Given the description of an element on the screen output the (x, y) to click on. 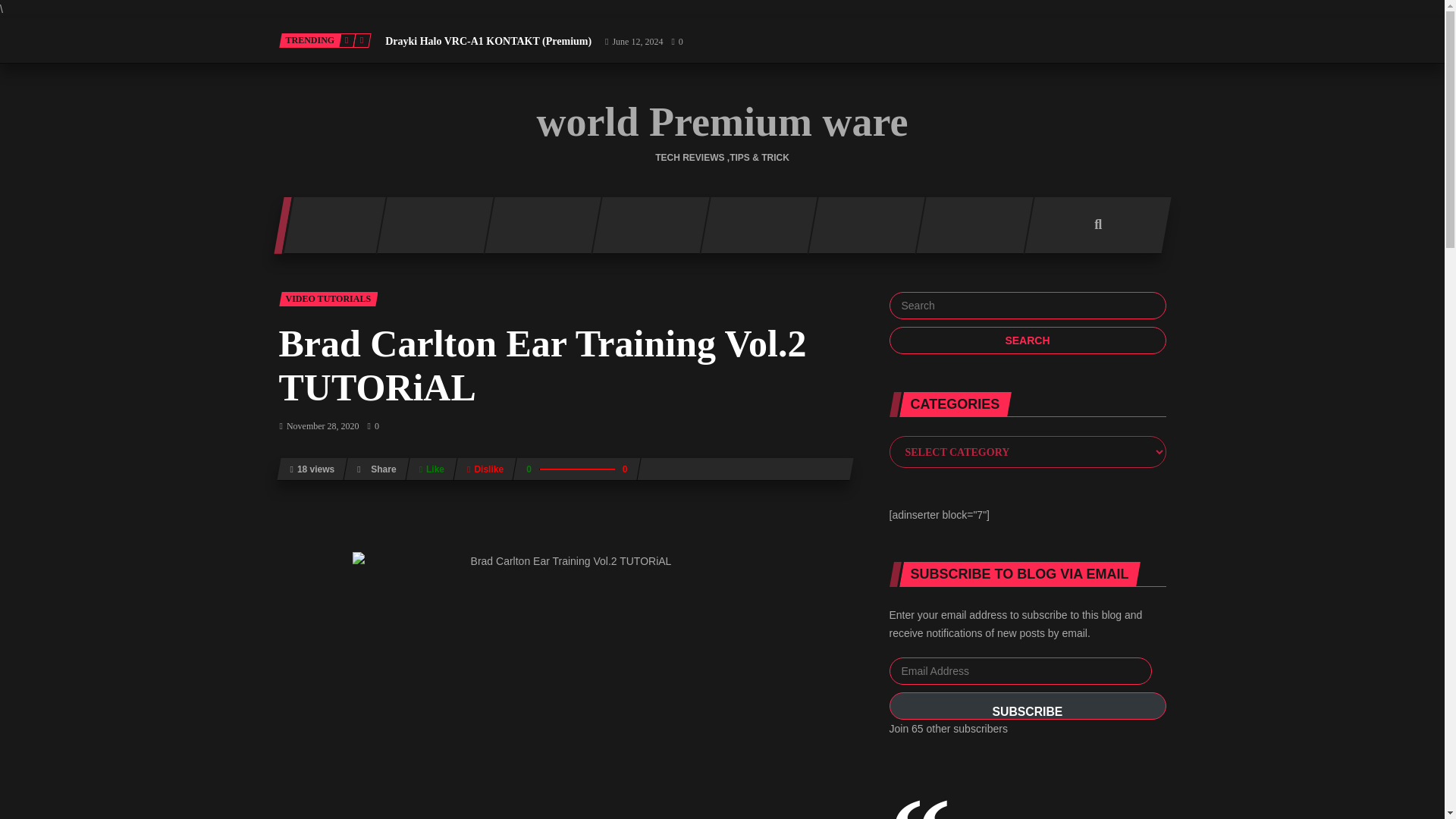
Brad Carlton Ear Training Vol.2 TUTORiAL (542, 365)
June 12, 2024 (633, 41)
Search (1027, 339)
VIDEO TUTORIALS (328, 298)
November 28, 2020 (319, 425)
0 (372, 425)
TRENDING (310, 40)
Video Tutorials (328, 298)
world Premium ware (722, 121)
0 (675, 41)
